Given the description of an element on the screen output the (x, y) to click on. 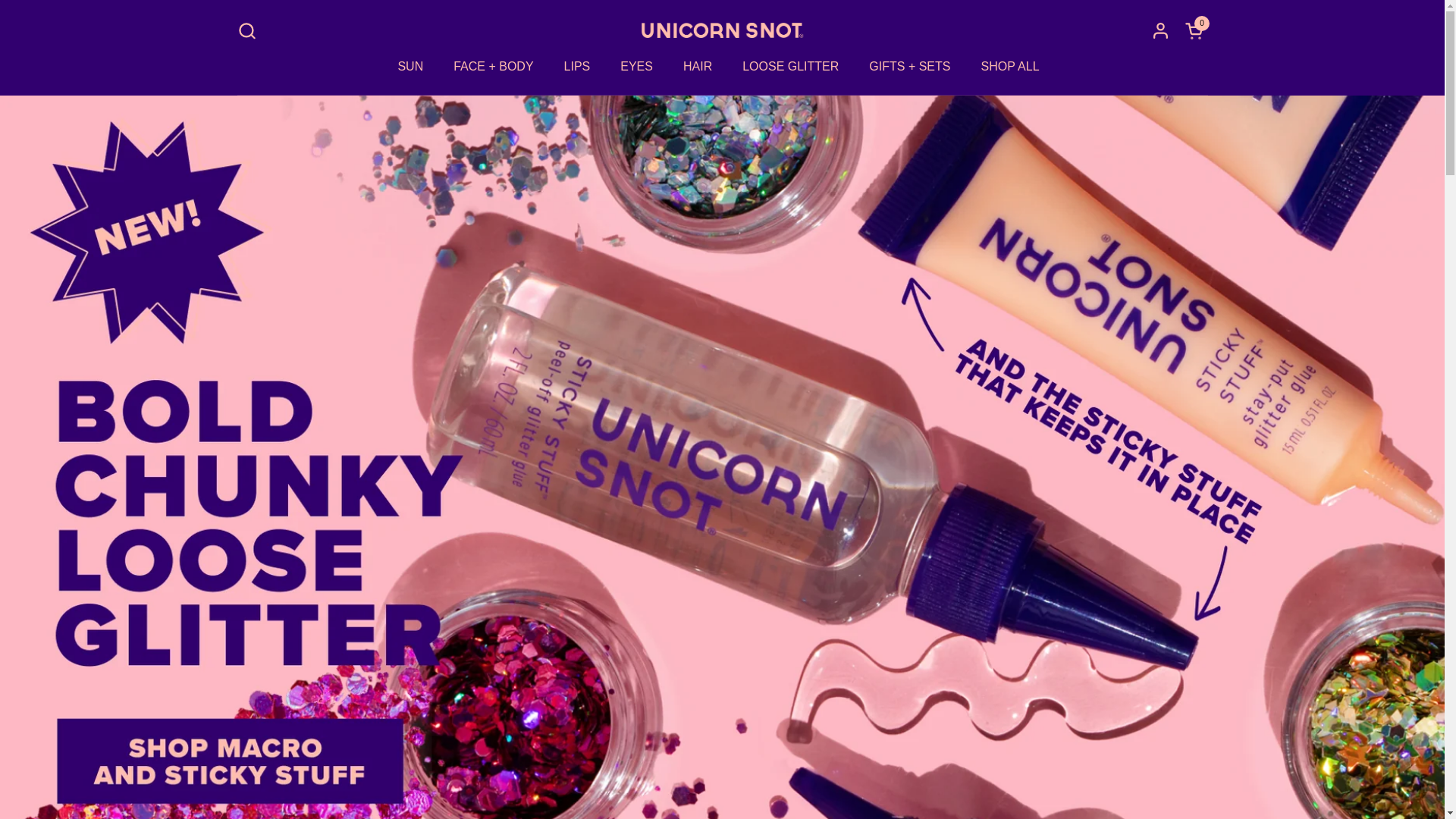
EYES (636, 66)
Unicorn Snot (1196, 30)
Open search (722, 29)
HAIR (245, 30)
Open cart (697, 66)
LIPS (1196, 30)
SHOP ALL (576, 66)
SUN (1009, 66)
Skip to content (409, 66)
